Given the description of an element on the screen output the (x, y) to click on. 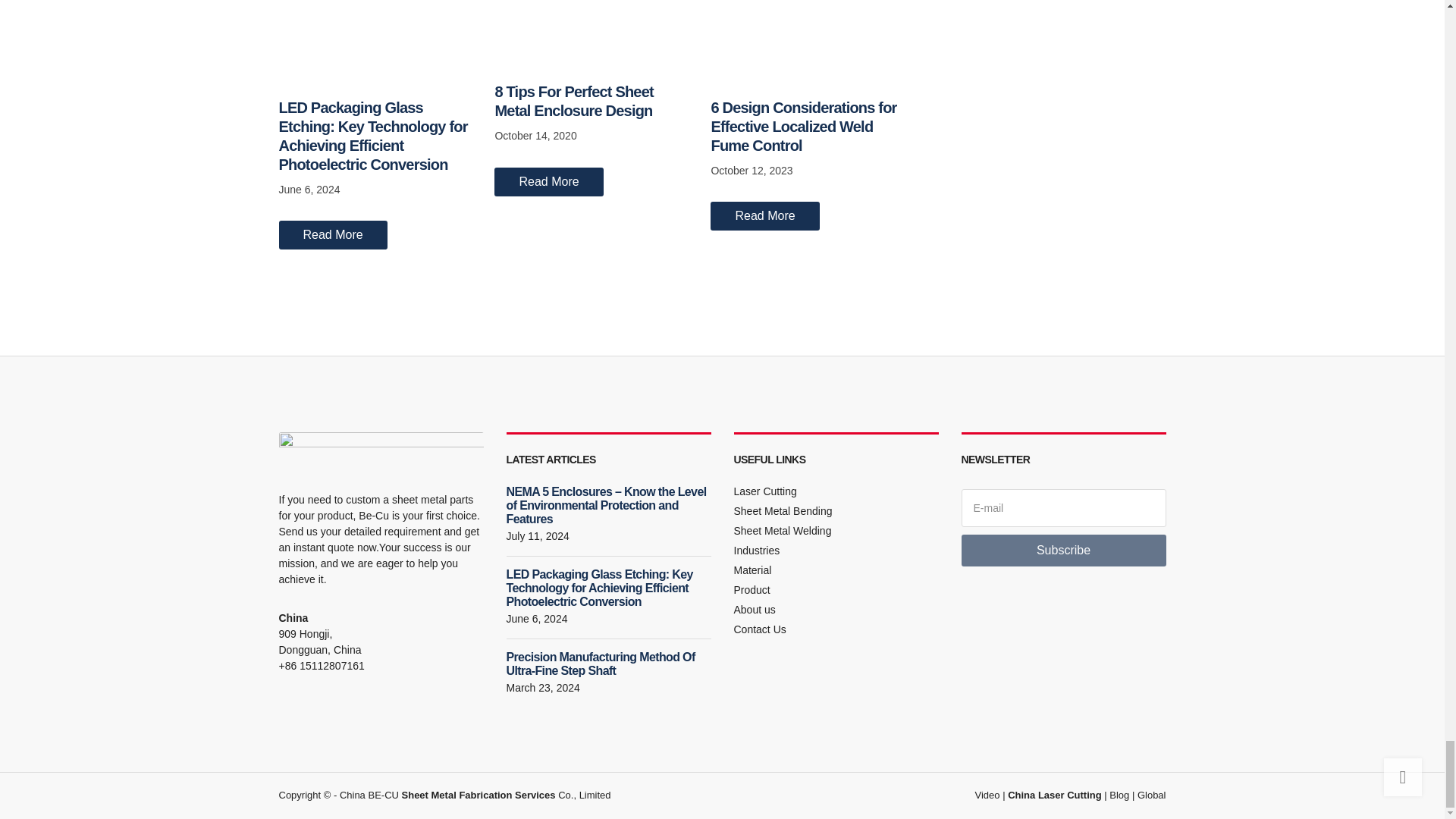
Read More (764, 215)
8 Tips For Perfect Sheet Metal Enclosure Design (573, 100)
Read More (333, 234)
Read More (548, 181)
